Given the description of an element on the screen output the (x, y) to click on. 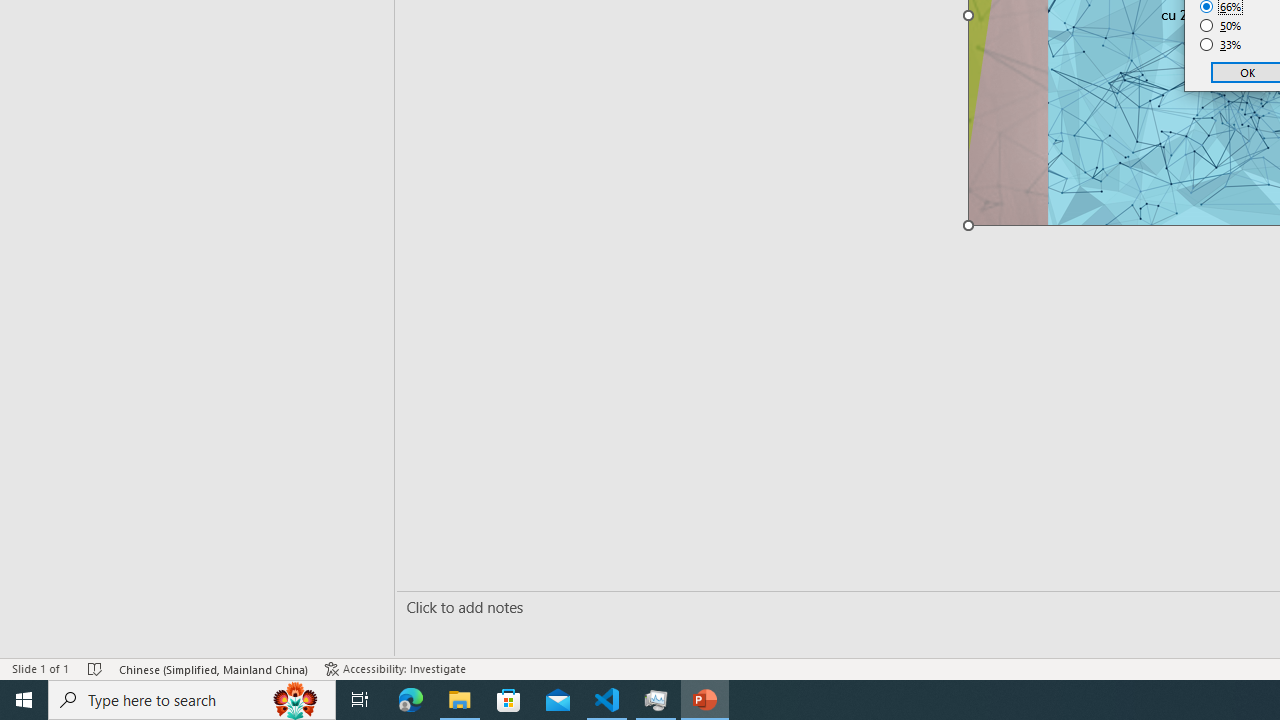
Type here to search (191, 699)
Visual Studio Code - 1 running window (607, 699)
33% (1221, 44)
File Explorer - 1 running window (460, 699)
Search highlights icon opens search home window (295, 699)
50% (1221, 25)
Task Manager - 1 running window (656, 699)
Microsoft Store (509, 699)
Start (24, 699)
Microsoft Edge (411, 699)
Task View (359, 699)
PowerPoint - 1 running window (704, 699)
